Given the description of an element on the screen output the (x, y) to click on. 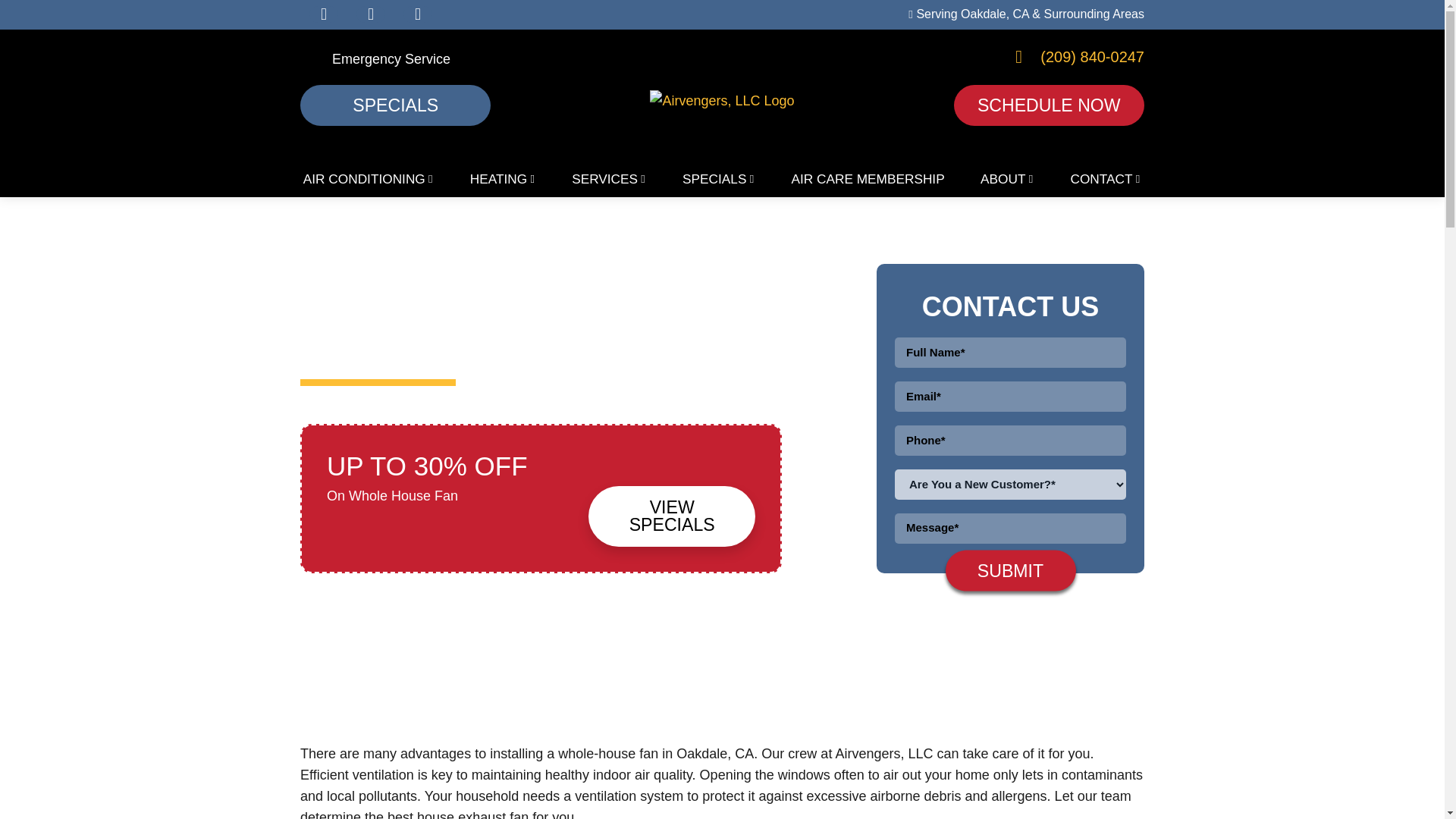
SPECIALS (718, 177)
VIEW SPECIALS (671, 516)
AIR CARE MEMBERSHIP (867, 177)
Airvengers, LLC (721, 99)
SPECIALS (394, 105)
Submit (1009, 570)
HEATING (502, 177)
CONTACT (1105, 177)
ABOUT (1008, 177)
SERVICES (609, 177)
